Given the description of an element on the screen output the (x, y) to click on. 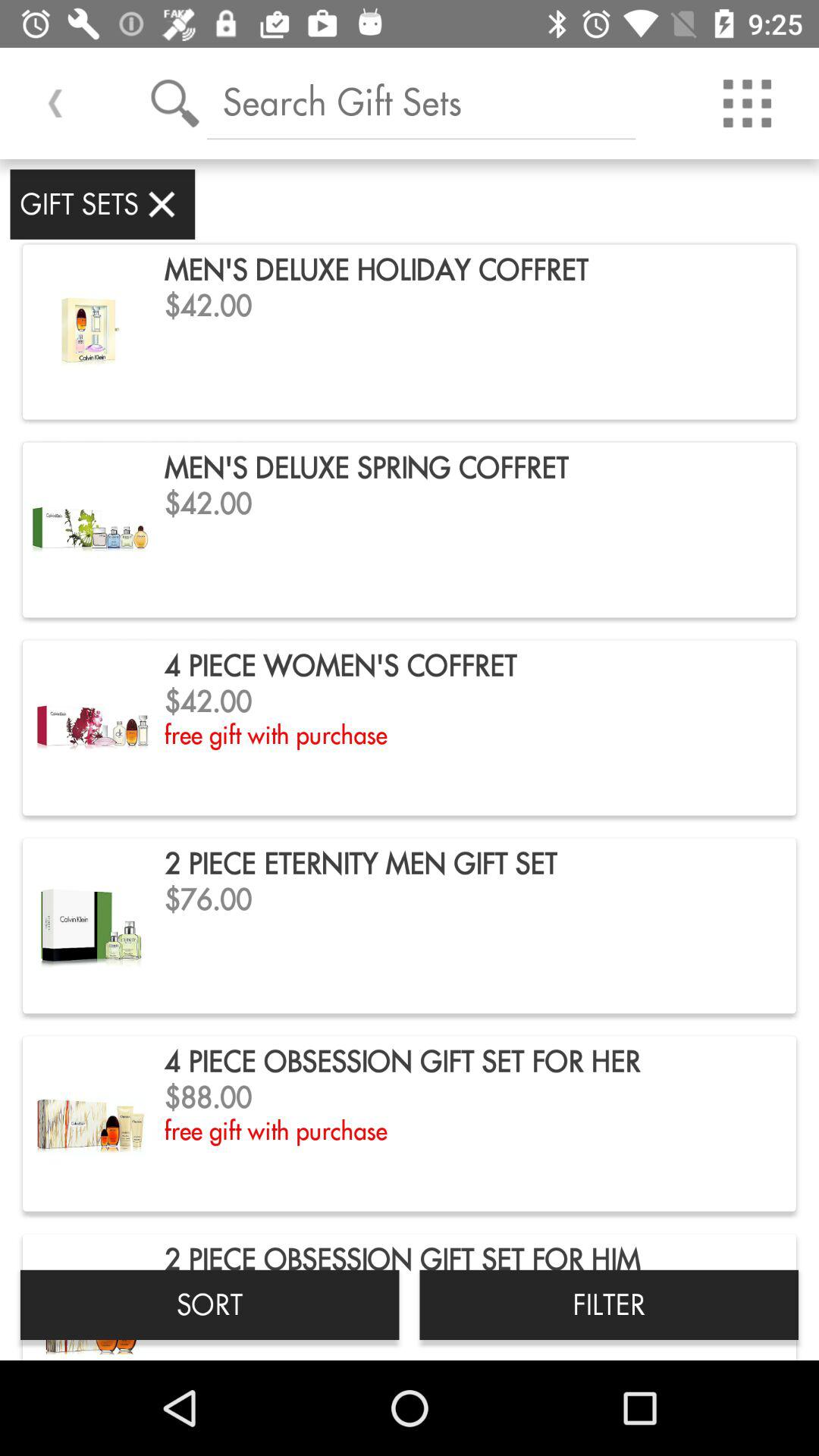
turn off the item above filter (747, 103)
